Given the description of an element on the screen output the (x, y) to click on. 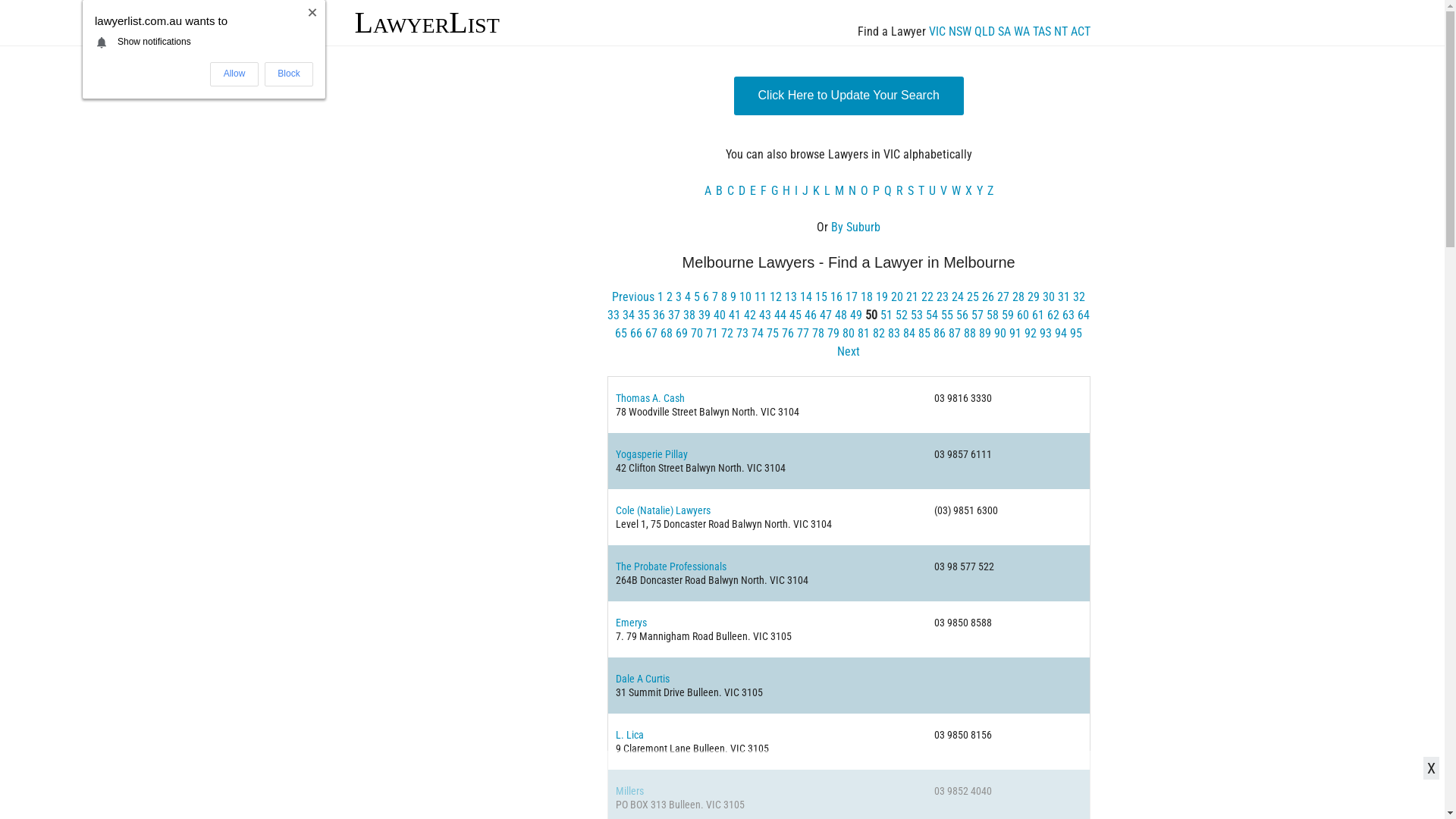
Z Element type: text (990, 190)
17 Element type: text (851, 296)
29 Element type: text (1033, 296)
71 Element type: text (712, 333)
W Element type: text (956, 190)
C Element type: text (730, 190)
64 Element type: text (1083, 314)
Emerys
03 9850 8588
7. 79 Mannigham Road Bulleen. VIC 3105 Element type: text (848, 629)
19 Element type: text (881, 296)
51 Element type: text (886, 314)
Q Element type: text (887, 190)
4 Element type: text (687, 296)
NT Element type: text (1060, 31)
77 Element type: text (803, 333)
24 Element type: text (957, 296)
L Element type: text (827, 190)
32 Element type: text (1079, 296)
Millers Element type: text (629, 790)
78 Element type: text (818, 333)
94 Element type: text (1060, 333)
23 Element type: text (942, 296)
5 Element type: text (696, 296)
Yogasperie Pillay Element type: text (651, 454)
95 Element type: text (1076, 333)
D Element type: text (741, 190)
R Element type: text (899, 190)
21 Element type: text (912, 296)
12 Element type: text (775, 296)
46 Element type: text (810, 314)
X Element type: text (968, 190)
S Element type: text (910, 190)
B Element type: text (718, 190)
73 Element type: text (742, 333)
I Element type: text (796, 190)
72 Element type: text (727, 333)
LawyerList Element type: text (426, 22)
E Element type: text (752, 190)
39 Element type: text (704, 314)
L. Lica Element type: text (629, 734)
28 Element type: text (1018, 296)
20 Element type: text (897, 296)
T Element type: text (921, 190)
30 Element type: text (1048, 296)
O Element type: text (864, 190)
N Element type: text (852, 190)
7 Element type: text (715, 296)
91 Element type: text (1015, 333)
75 Element type: text (772, 333)
93 Element type: text (1045, 333)
11 Element type: text (760, 296)
53 Element type: text (916, 314)
13 Element type: text (790, 296)
Y Element type: text (979, 190)
Emerys Element type: text (630, 622)
76 Element type: text (787, 333)
67 Element type: text (651, 333)
15 Element type: text (821, 296)
82 Element type: text (878, 333)
WA Element type: text (1021, 31)
54 Element type: text (931, 314)
80 Element type: text (848, 333)
Dale A Curtis Element type: text (642, 678)
L. Lica
03 9850 8156
9 Claremont Lane Bulleen. VIC 3105 Element type: text (848, 741)
68 Element type: text (666, 333)
Click Here to Update Your Search Element type: text (848, 95)
3 Element type: text (678, 296)
48 Element type: text (840, 314)
35 Element type: text (643, 314)
G Element type: text (774, 190)
86 Element type: text (939, 333)
8 Element type: text (724, 296)
M Element type: text (839, 190)
55 Element type: text (947, 314)
85 Element type: text (924, 333)
18 Element type: text (866, 296)
10 Element type: text (745, 296)
16 Element type: text (836, 296)
By Suburb Element type: text (855, 226)
65 Element type: text (621, 333)
Dale A Curtis
31 Summit Drive Bulleen. VIC 3105 Element type: text (848, 685)
34 Element type: text (628, 314)
74 Element type: text (757, 333)
38 Element type: text (689, 314)
Previous Element type: text (632, 296)
Thomas A. Cash Element type: text (649, 398)
47 Element type: text (825, 314)
37 Element type: text (674, 314)
61 Element type: text (1038, 314)
Millers
03 9852 4040
PO BOX 313 Bulleen. VIC 3105 Element type: text (848, 797)
F Element type: text (763, 190)
57 Element type: text (977, 314)
9 Element type: text (733, 296)
52 Element type: text (901, 314)
62 Element type: text (1053, 314)
84 Element type: text (909, 333)
83 Element type: text (894, 333)
K Element type: text (816, 190)
70 Element type: text (696, 333)
14 Element type: text (806, 296)
P Element type: text (875, 190)
SA Element type: text (1003, 31)
79 Element type: text (833, 333)
66 Element type: text (636, 333)
A Element type: text (707, 190)
1 Element type: text (660, 296)
ACT Element type: text (1080, 31)
45 Element type: text (795, 314)
V Element type: text (943, 190)
92 Element type: text (1030, 333)
40 Element type: text (719, 314)
H Element type: text (786, 190)
58 Element type: text (992, 314)
81 Element type: text (863, 333)
36 Element type: text (658, 314)
TAS Element type: text (1041, 31)
27 Element type: text (1003, 296)
43 Element type: text (765, 314)
60 Element type: text (1022, 314)
44 Element type: text (780, 314)
U Element type: text (932, 190)
56 Element type: text (962, 314)
59 Element type: text (1007, 314)
41 Element type: text (734, 314)
2 Element type: text (669, 296)
88 Element type: text (969, 333)
25 Element type: text (972, 296)
6 Element type: text (705, 296)
90 Element type: text (1000, 333)
QLD Element type: text (983, 31)
VIC Element type: text (936, 31)
J Element type: text (805, 190)
26 Element type: text (988, 296)
63 Element type: text (1068, 314)
42 Element type: text (749, 314)
69 Element type: text (681, 333)
NSW Element type: text (958, 31)
87 Element type: text (954, 333)
89 Element type: text (985, 333)
33 Element type: text (613, 314)
49 Element type: text (856, 314)
31 Element type: text (1063, 296)
Next Element type: text (848, 351)
Cole (Natalie) Lawyers Element type: text (662, 510)
22 Element type: text (927, 296)
The Probate Professionals Element type: text (670, 566)
